Given the description of an element on the screen output the (x, y) to click on. 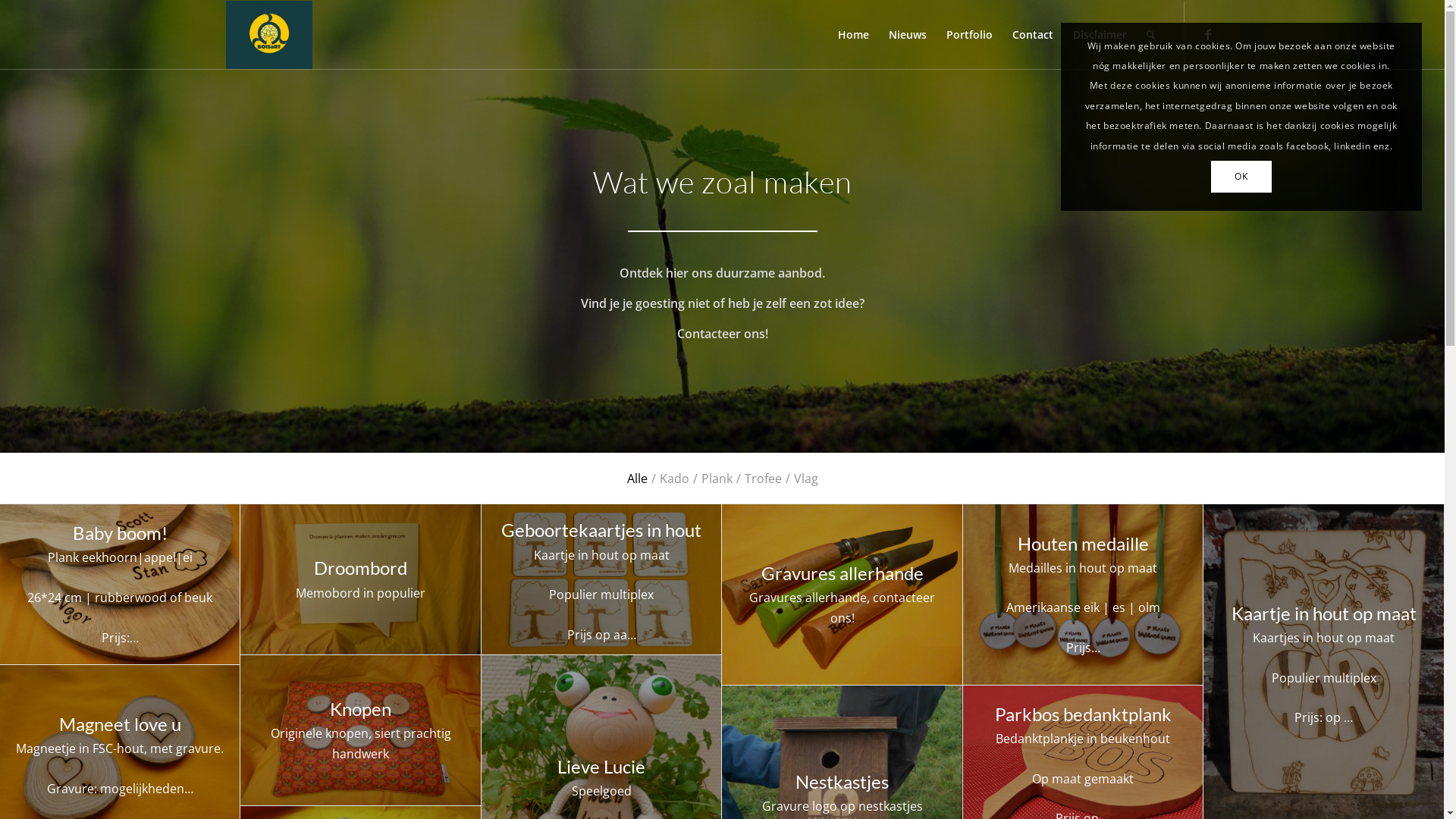
Vlag Element type: text (805, 478)
Portfolio Element type: text (968, 34)
Droombord
Memobord in populier Element type: text (360, 579)
Disclaimer Element type: text (1099, 34)
Facebook Element type: hover (1207, 33)
Alle Element type: text (636, 478)
Plank Element type: text (715, 478)
Home Element type: text (853, 34)
Contact Element type: text (1032, 34)
Knoopjes_web Element type: hover (360, 730)
broodplank (3) Element type: hover (119, 584)
Gravures allerhande
Gravures allerhande, contacteer ons! Element type: text (841, 594)
Web_medailles_high Element type: hover (1082, 594)
Droombord_web Element type: hover (360, 579)
Knopen
Originele knopen, siert prachtig handwerk Element type: text (360, 730)
geboortekaartje_960600 Element type: hover (601, 579)
OK Element type: text (1241, 176)
Trofee Element type: text (762, 478)
Nieuws Element type: text (906, 34)
P1030299 Element type: hover (841, 594)
Kado Element type: text (674, 478)
